Given the description of an element on the screen output the (x, y) to click on. 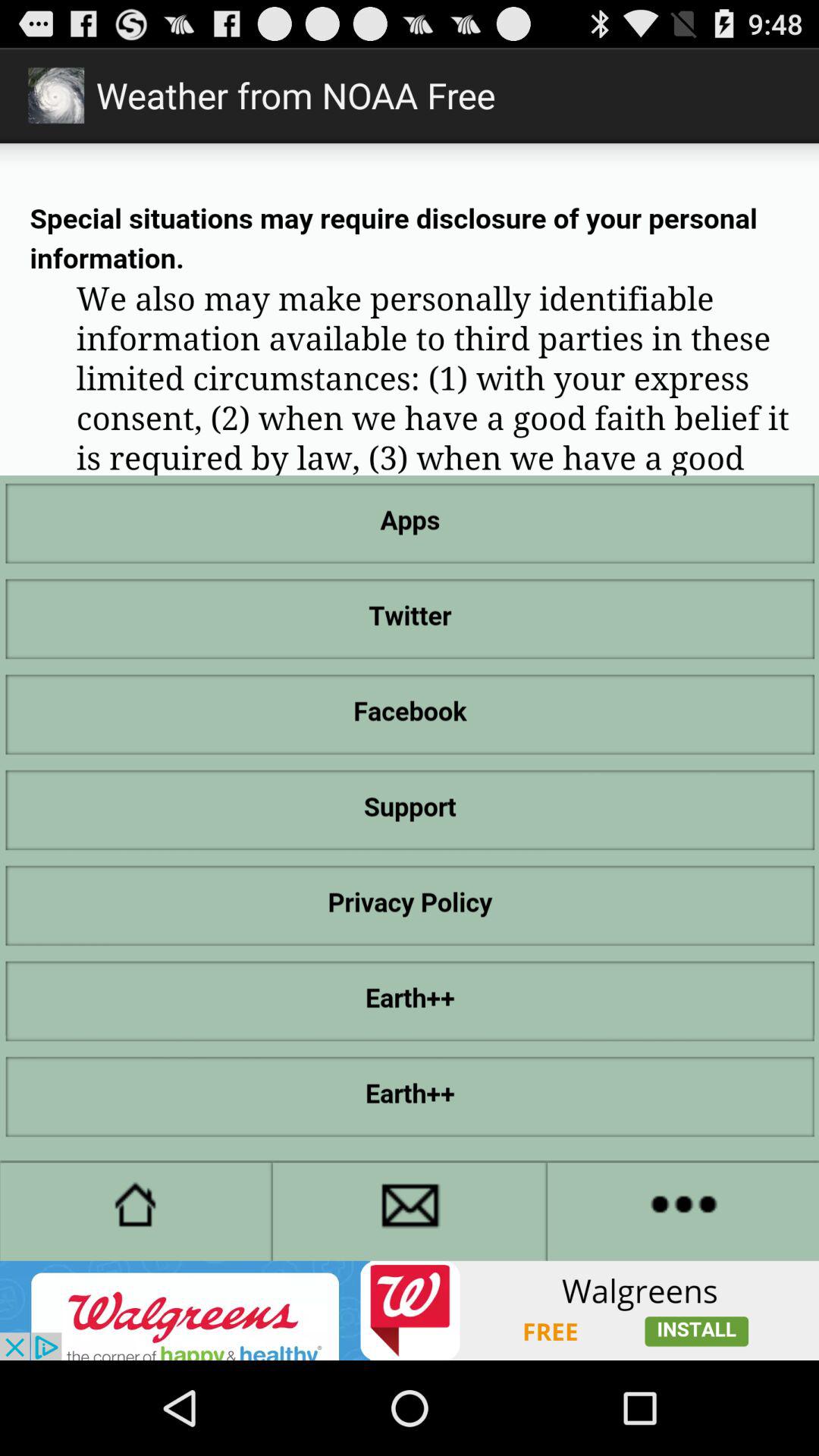
bit news (409, 1310)
